Given the description of an element on the screen output the (x, y) to click on. 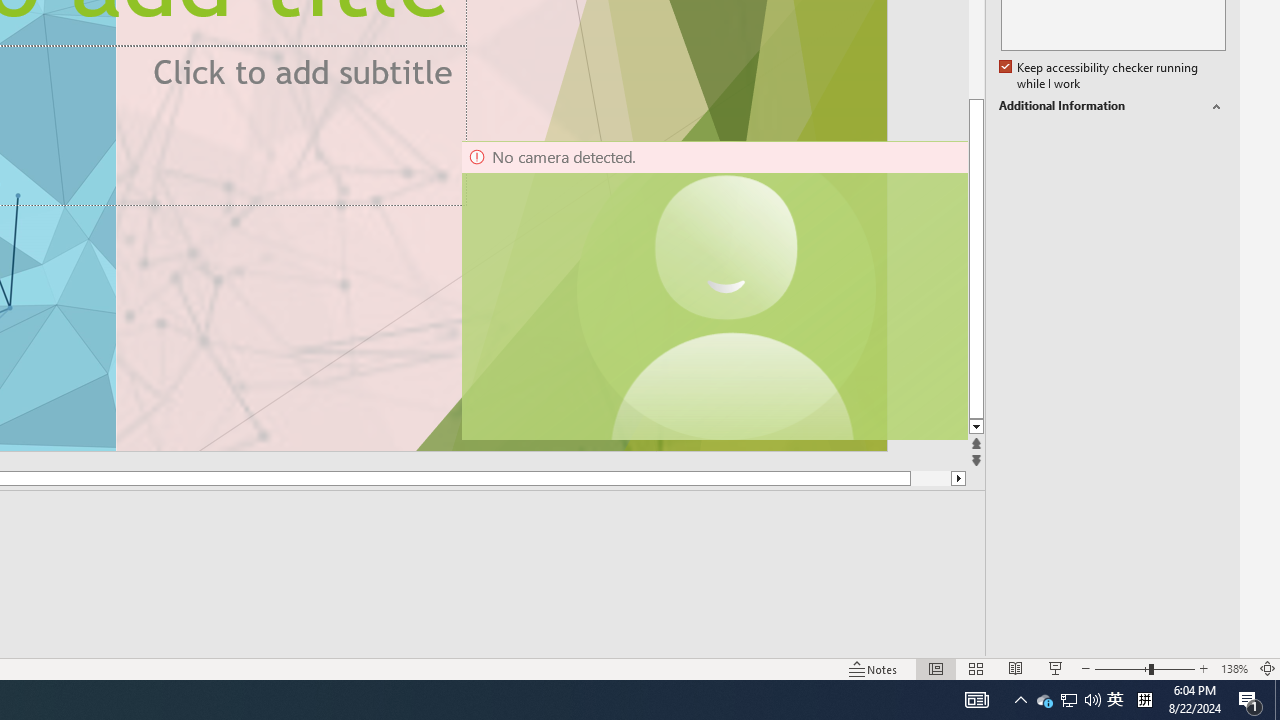
Zoom 138% (1234, 668)
Camera 11, No camera detected. (727, 290)
Camera 14, No camera detected. (713, 290)
